Given the description of an element on the screen output the (x, y) to click on. 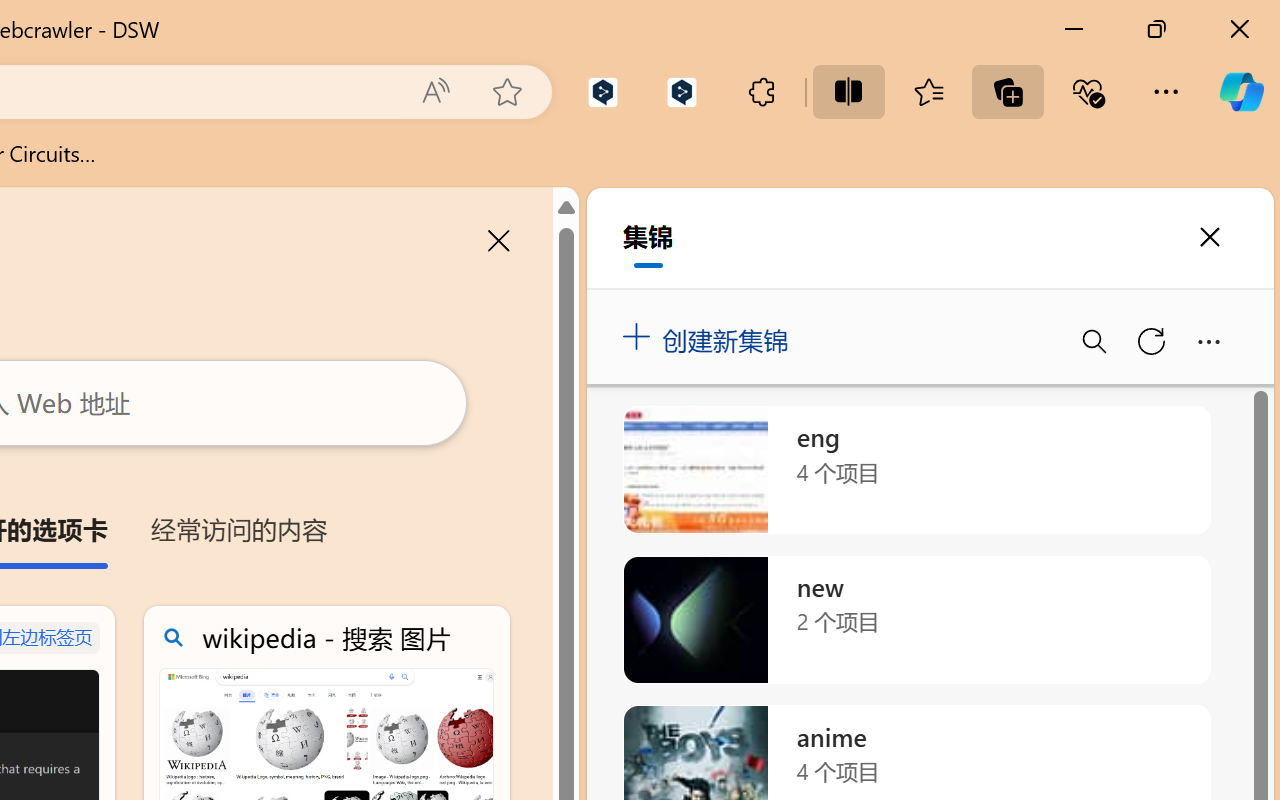
Copilot (Ctrl+Shift+.) (1241, 91)
